Given the description of an element on the screen output the (x, y) to click on. 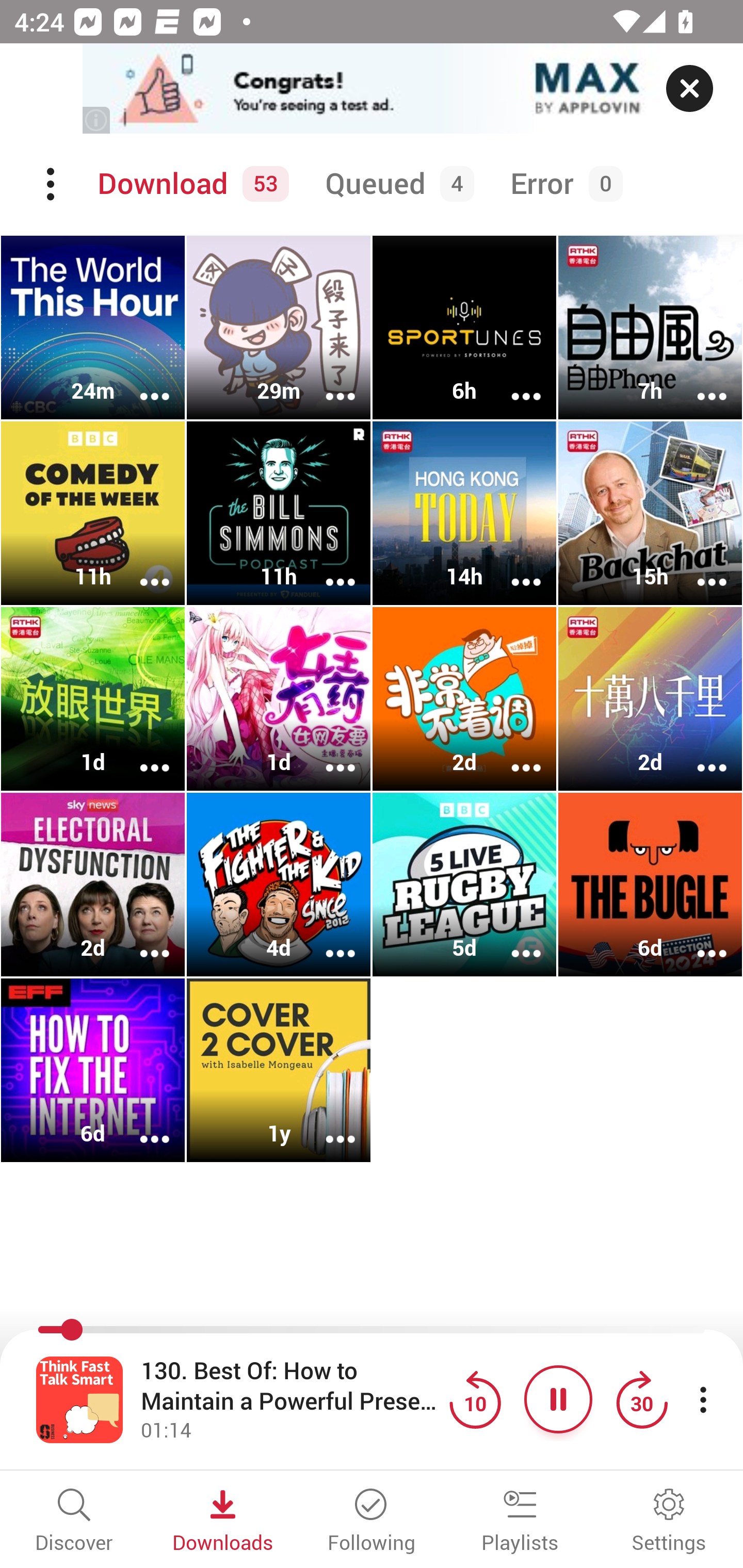
app-monetization (371, 88)
(i) (96, 119)
Menu (52, 184)
 Download 53 (189, 184)
 Queued 4 (396, 184)
 Error 0 (562, 184)
The World This Hour 24m More options More options (92, 327)
段子来了 29m More options More options (278, 327)
Sportunes HK 6h More options More options (464, 327)
自由风自由PHONE 7h More options More options (650, 327)
More options (141, 382)
More options (326, 382)
More options (512, 382)
More options (698, 382)
Comedy of the Week 11h More options More options (92, 513)
Hong Kong Today 14h More options More options (464, 513)
Backchat 15h More options More options (650, 513)
More options (141, 569)
More options (326, 569)
More options (512, 569)
More options (698, 569)
放眼世界 1d More options More options (92, 698)
女王有药丨爆笑脱口秀 1d More options More options (278, 698)
非常不着调 2d More options More options (464, 698)
十萬八千里 2d More options More options (650, 698)
More options (141, 754)
More options (326, 754)
More options (512, 754)
More options (698, 754)
Electoral Dysfunction 2d More options More options (92, 883)
The Fighter & The Kid 4d More options More options (278, 883)
5 Live Rugby League 5d More options More options (464, 883)
The Bugle 6d More options More options (650, 883)
More options (141, 940)
More options (326, 940)
More options (512, 940)
More options (698, 940)
Cover 2 Cover 1y More options More options (278, 1069)
More options (141, 1125)
More options (326, 1125)
Open fullscreen player (79, 1399)
More player controls (703, 1399)
Pause button (558, 1398)
Jump back (475, 1399)
Jump forward (641, 1399)
Discover (74, 1521)
Downloads (222, 1521)
Following (371, 1521)
Playlists (519, 1521)
Settings (668, 1521)
